Given the description of an element on the screen output the (x, y) to click on. 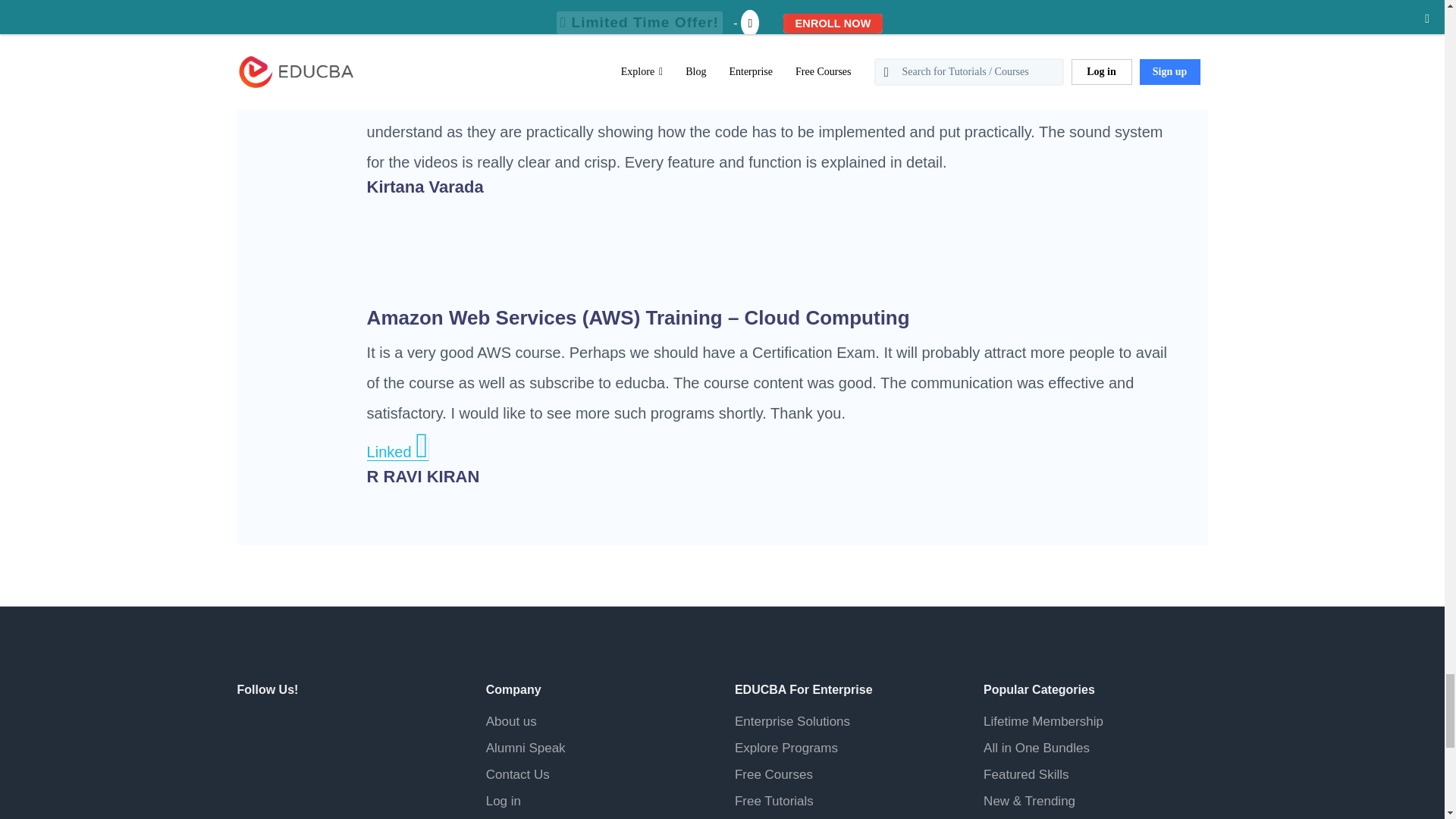
EDUCBA Coursera (287, 767)
EDUCBA LinkedIN (322, 730)
EDUCBA Udemy (322, 767)
EDUCBA Twitter (287, 730)
EDUCBA Youtube (250, 767)
EDUCBA Facebook (250, 730)
EDUCBA Instagram (358, 730)
